Given the description of an element on the screen output the (x, y) to click on. 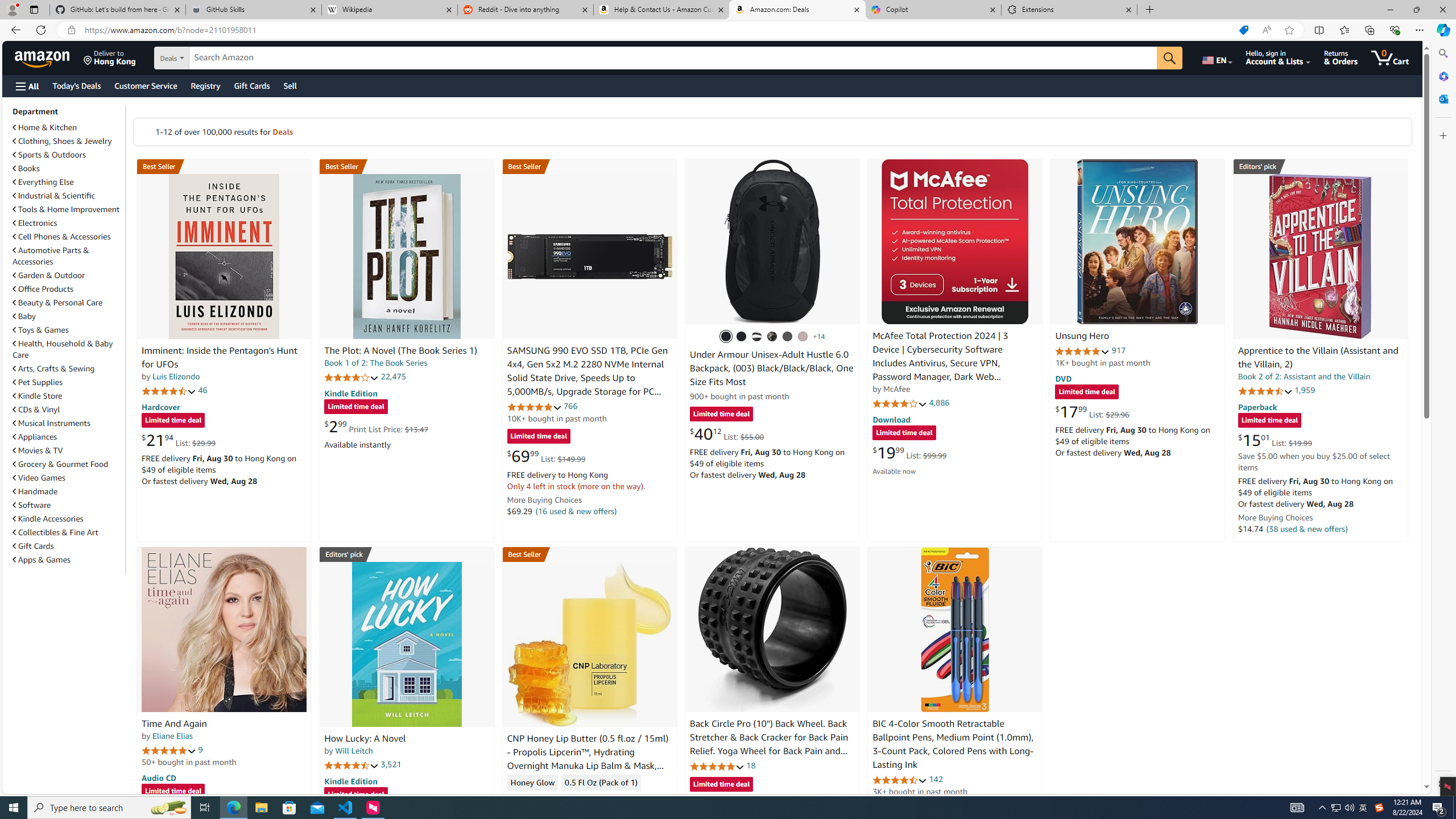
Home & Kitchen (45, 127)
Clothing, Shoes & Jewelry (67, 140)
Musical Instruments (67, 423)
How Lucky: A Novel (405, 644)
4.8 out of 5 stars (716, 766)
Garden & Outdoor (67, 274)
Appliances (34, 436)
Health, Household & Baby Care (63, 349)
Tools & Home Improvement (67, 208)
Reddit - Dive into anything (525, 9)
Arts, Crafts & Sewing (53, 368)
$19.99 List: $99.99 (909, 452)
Deliver to Hong Kong (109, 57)
Hardcover (160, 406)
